Given the description of an element on the screen output the (x, y) to click on. 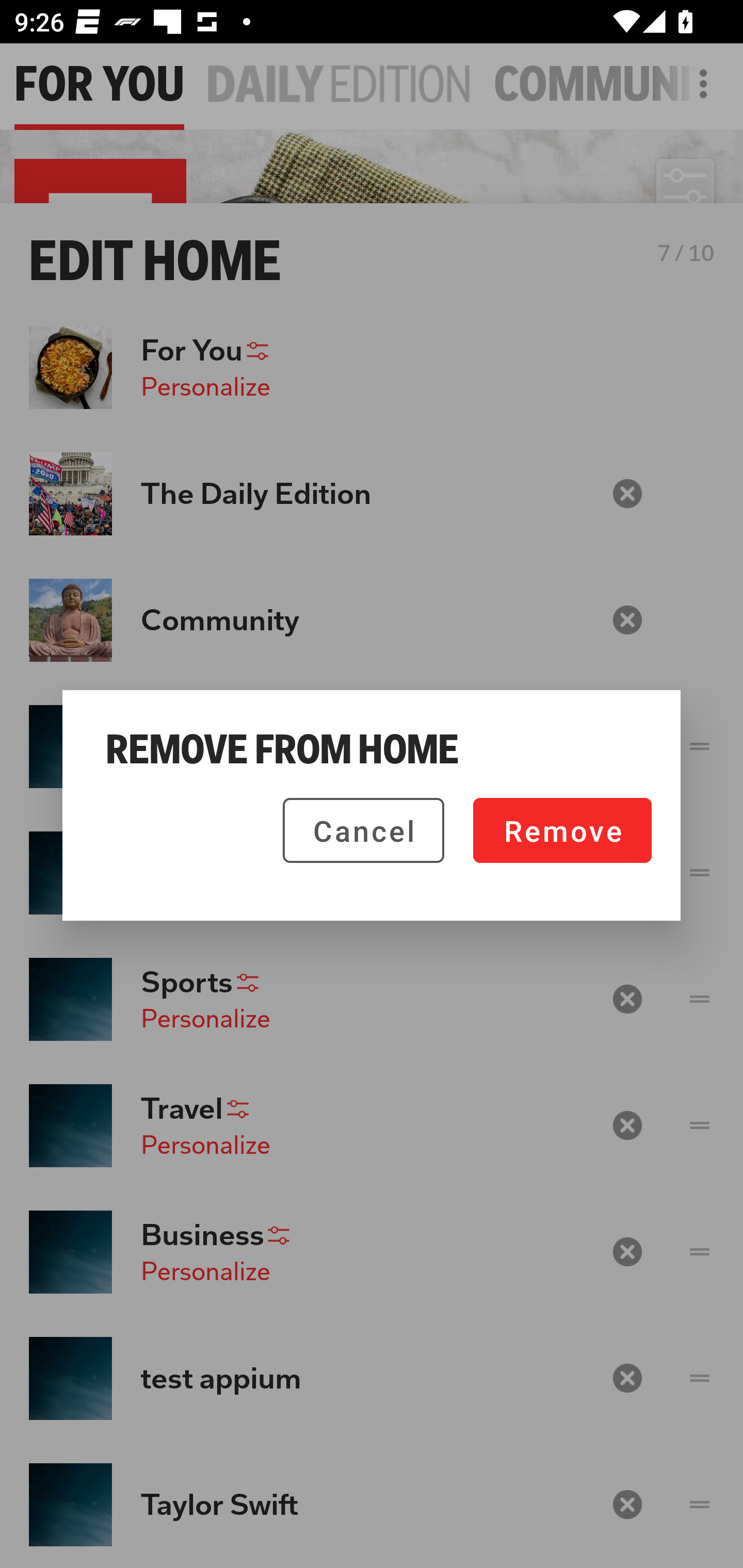
Cancel (363, 830)
Remove (562, 830)
